Given the description of an element on the screen output the (x, y) to click on. 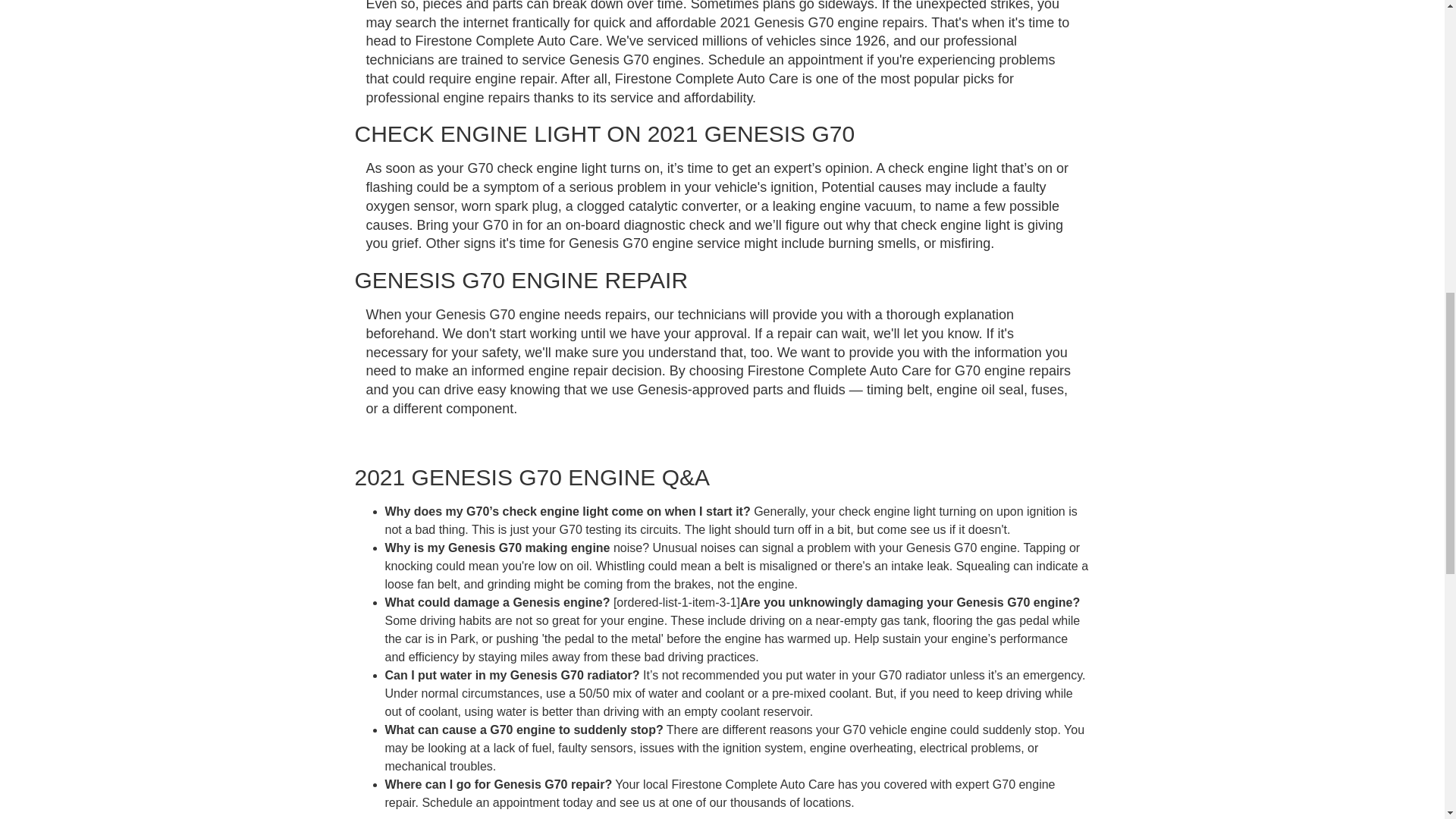
engine repairs (489, 97)
Schedule an appointment today (507, 802)
local Firestone Complete Auto Care (738, 784)
engine repairs (881, 22)
